Given the description of an element on the screen output the (x, y) to click on. 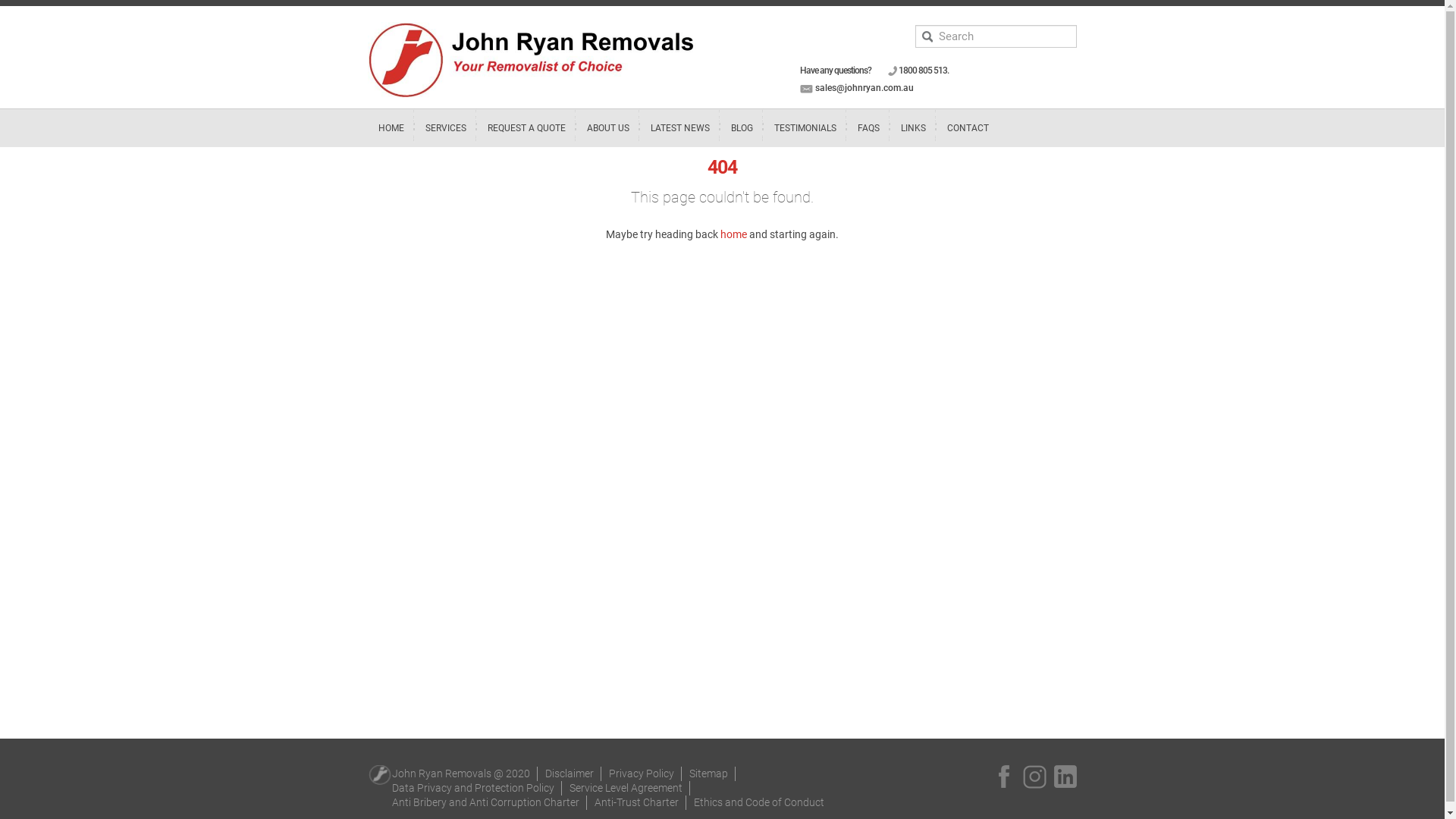
ABOUT US Element type: text (608, 128)
TESTIMONIALS Element type: text (805, 128)
Service Level Agreement Element type: text (625, 787)
REQUEST A QUOTE Element type: text (526, 128)
sales@johnryan.com.au Element type: text (864, 87)
BLOG Element type: text (741, 128)
SERVICES Element type: text (445, 128)
home Element type: text (733, 234)
Anti-Trust Charter Element type: text (636, 801)
Ethics and Code of Conduct Element type: text (758, 801)
LINKS Element type: text (913, 128)
LATEST NEWS Element type: text (680, 128)
Data Privacy and Protection Policy Element type: text (472, 787)
FAQS Element type: text (868, 128)
Sitemap Element type: text (708, 773)
Anti Bribery and Anti Corruption Charter Element type: text (485, 801)
Disclaimer Element type: text (569, 773)
John Ryan Removals @ 2020 Element type: text (460, 773)
HOME Element type: text (390, 128)
CONTACT Element type: text (967, 128)
Privacy Policy Element type: text (641, 773)
